Given the description of an element on the screen output the (x, y) to click on. 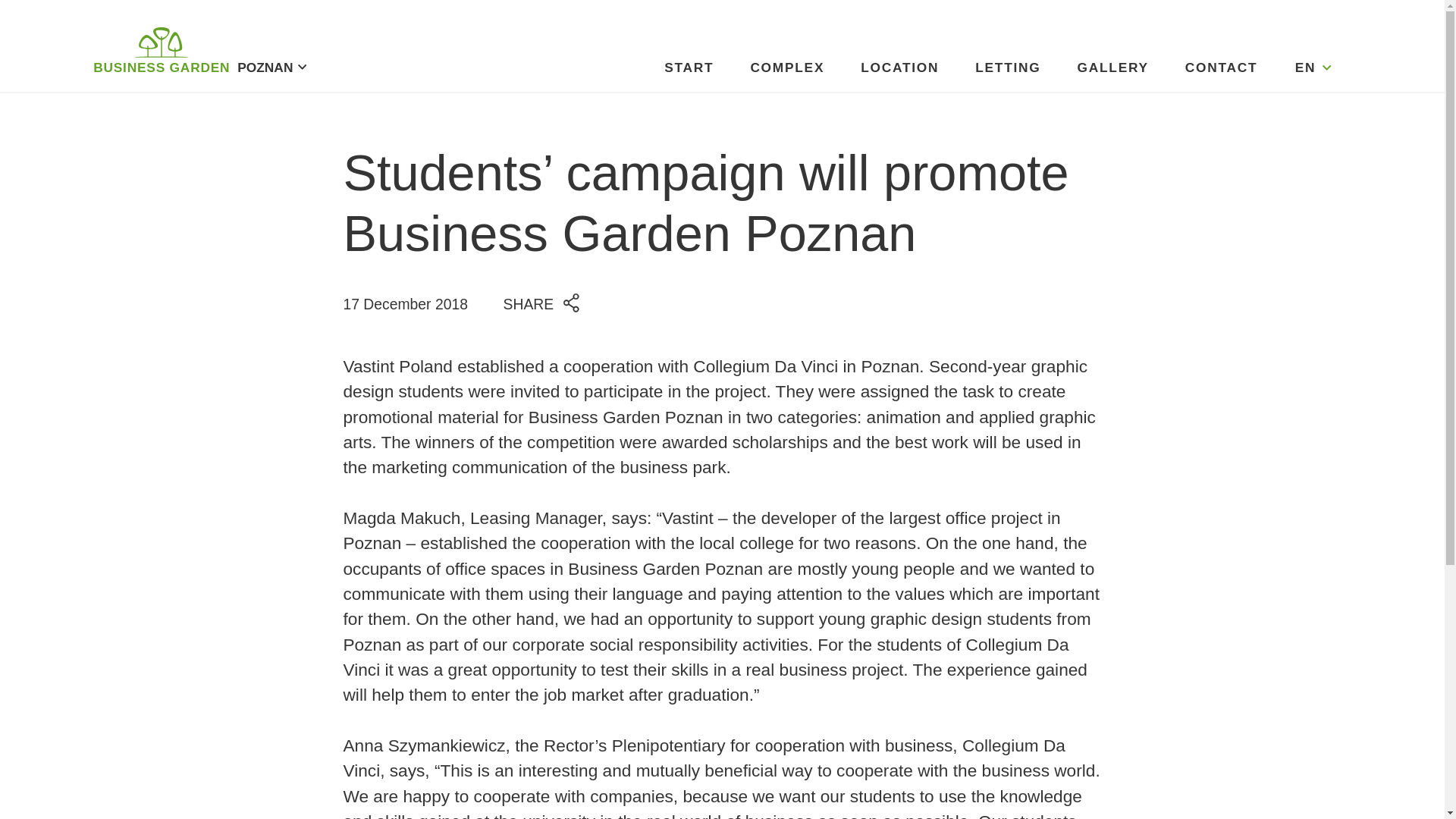
BUSINESS GARDEN (161, 52)
LETTING (1008, 67)
LOCATION (899, 67)
GALLERY (1112, 67)
COMPLEX (786, 67)
START (688, 67)
CONTACT (1221, 67)
